Given the description of an element on the screen output the (x, y) to click on. 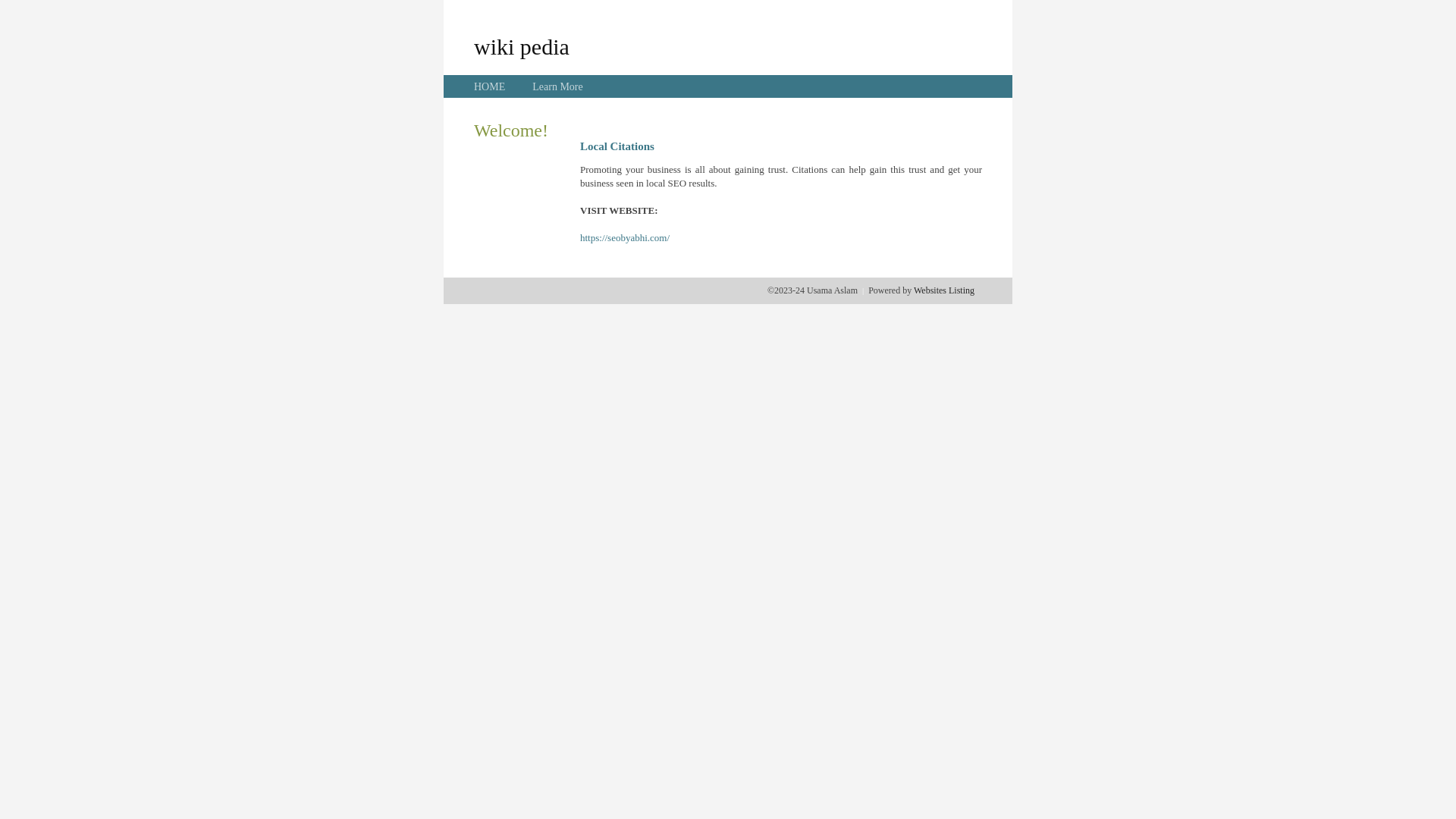
wiki pedia Element type: text (521, 46)
Learn More Element type: text (557, 86)
https://seobyabhi.com/ Element type: text (624, 237)
Websites Listing Element type: text (943, 290)
HOME Element type: text (489, 86)
